Given the description of an element on the screen output the (x, y) to click on. 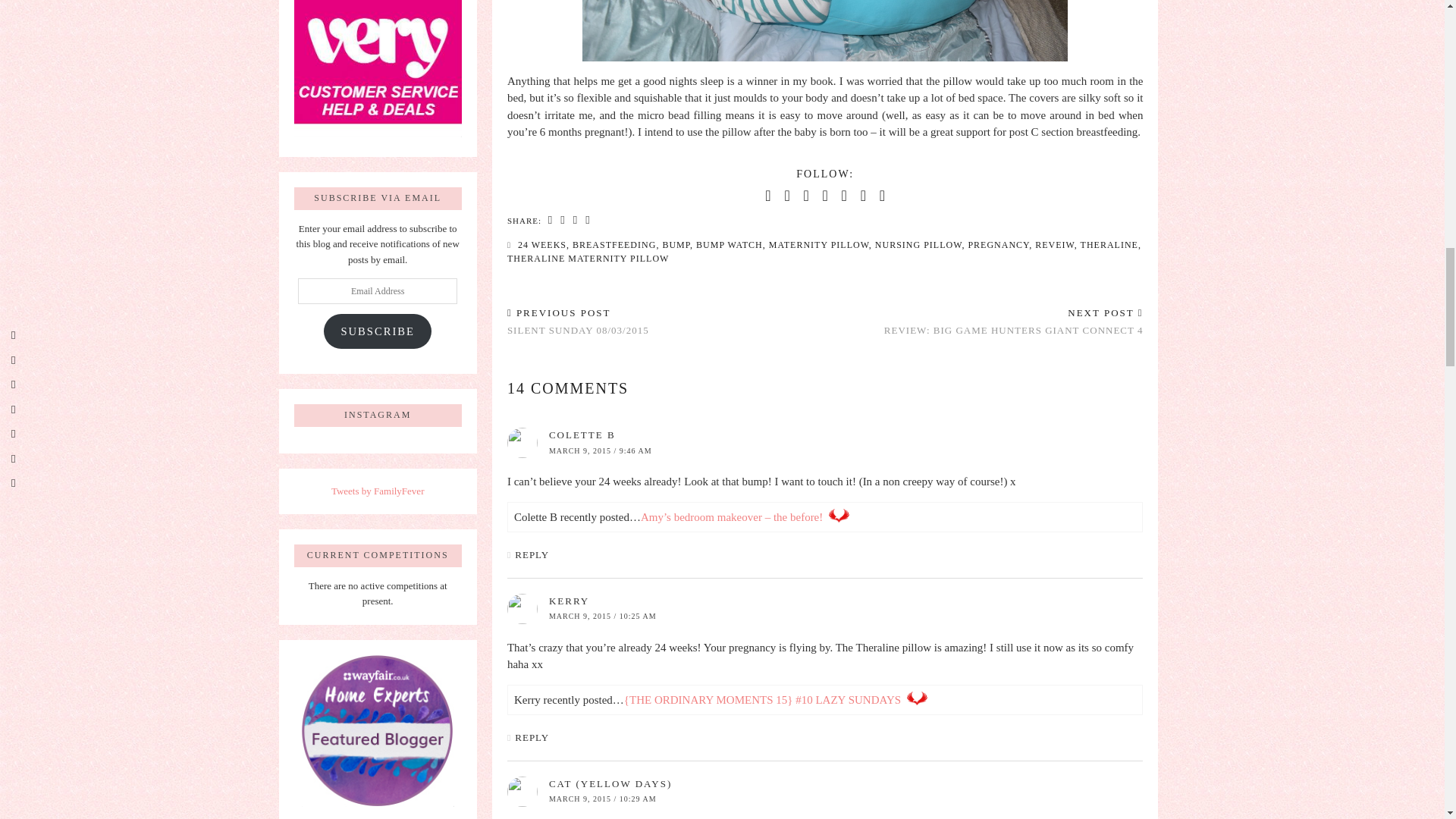
Share on tumblr (587, 219)
Share on Pinterest (574, 219)
Share on Facebook (550, 219)
Share on Twitter (562, 219)
